Given the description of an element on the screen output the (x, y) to click on. 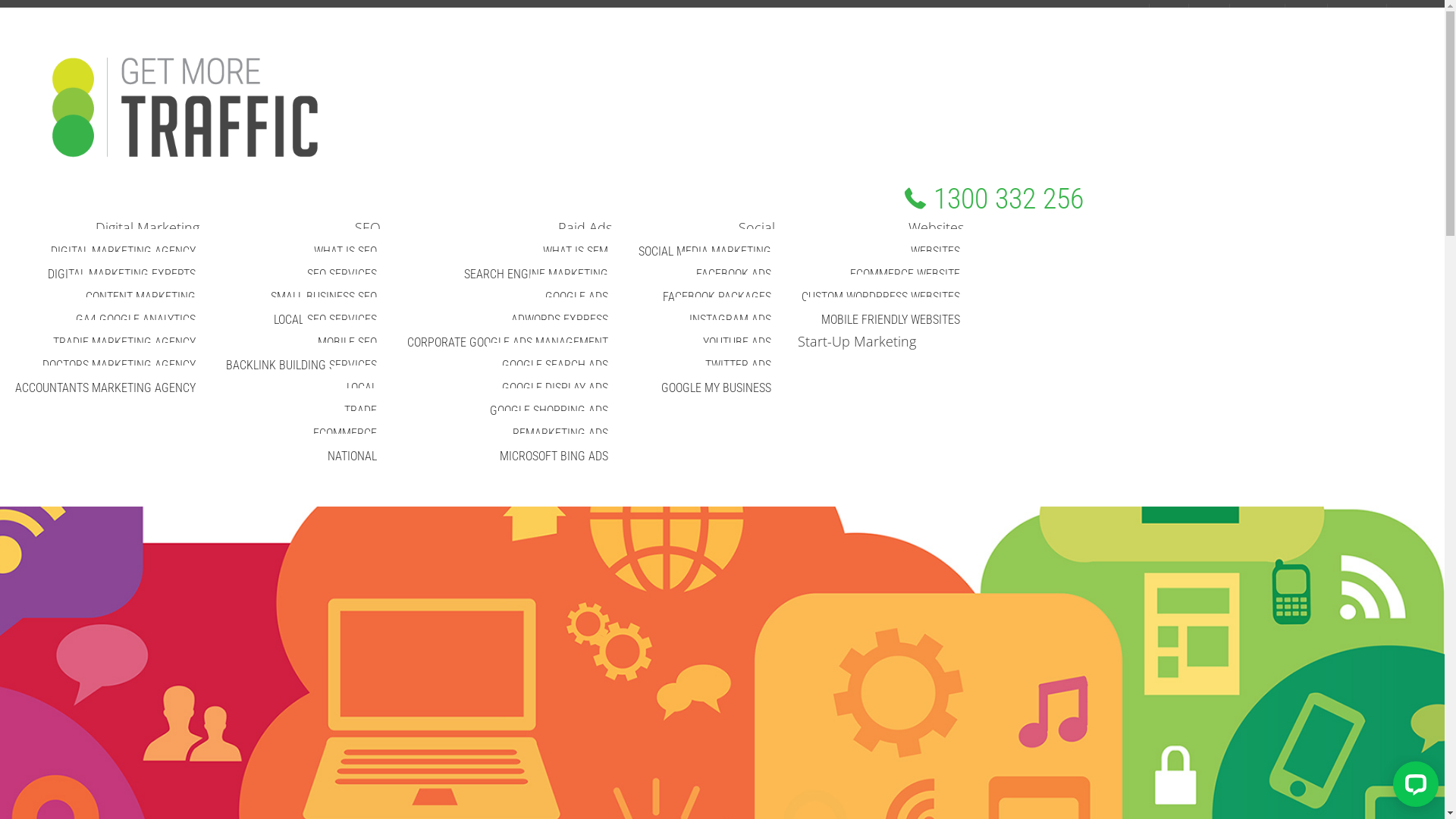
ECOMMERCE Element type: text (345, 433)
GOOGLE MY BUSINESS Element type: text (716, 387)
SEARCH ENGINE MARKETING Element type: text (535, 273)
Social Element type: text (756, 227)
CONTENT MARKETING Element type: text (140, 296)
GA4 GOOGLE ANALYTICS Element type: text (135, 319)
SOCIAL MEDIA MARKETING Element type: text (704, 251)
CUSTOM WORDPRESS WEBSITES Element type: text (880, 296)
TRADE Element type: text (360, 410)
GOOGLE SHOPPING ADS Element type: text (548, 410)
FACEBOOK ADS Element type: text (733, 273)
MOBILE FRIENDLY WEBSITES Element type: text (890, 319)
Speak To Us Element type: text (1356, 12)
ECOMMERCE WEBSITE Element type: text (904, 273)
YOUTUBE ADS Element type: text (736, 342)
ADWORDS EXPRESS Element type: text (559, 319)
Start-Up Marketing Element type: text (851, 341)
SEO Element type: text (367, 227)
TWITTER ADS Element type: text (738, 364)
WHAT IS SEO Element type: text (345, 251)
DOCTORS MARKETING AGENCY Element type: text (118, 364)
INSTAGRAM ADS Element type: text (730, 319)
WEBSITES Element type: text (935, 251)
About Element type: text (1132, 12)
Awards Element type: text (1168, 12)
Client Login Element type: text (1415, 12)
ACCOUNTANTS MARKETING AGENCY Element type: text (105, 387)
Websites Element type: text (936, 227)
GOOGLE ADS Element type: text (576, 296)
Paid Ads Element type: text (584, 227)
REMARKETING ADS Element type: text (560, 433)
MICROSOFT BING ADS Element type: text (553, 455)
LOCAL Element type: text (361, 387)
GOOGLE SEARCH ADS Element type: text (554, 364)
LOCAL SEO SERVICES Element type: text (325, 319)
SEO SERVICES Element type: text (341, 273)
FACEBOOK PACKAGES Element type: text (716, 296)
MOBILE SEO Element type: text (347, 342)
BACKLINK BUILDING SERVICES Element type: text (301, 364)
SMALL BUSINESS SEO Element type: text (323, 296)
TRADIE MARKETING AGENCY Element type: text (123, 342)
Case Study Element type: text (1257, 12)
DIGITAL MARKETING EXPERTS Element type: text (121, 273)
GOOGLE DISPLAY ADS Element type: text (554, 387)
Careers Element type: text (1209, 12)
Digital Marketing Element type: text (152, 227)
Reviews Element type: text (1306, 12)
NATIONAL Element type: text (352, 455)
WHAT IS SEM Element type: text (575, 251)
CORPORATE GOOGLE ADS MANAGEMENT Element type: text (507, 342)
DIGITAL MARKETING AGENCY Element type: text (122, 251)
1300 332 256 Element type: text (993, 198)
